Given the description of an element on the screen output the (x, y) to click on. 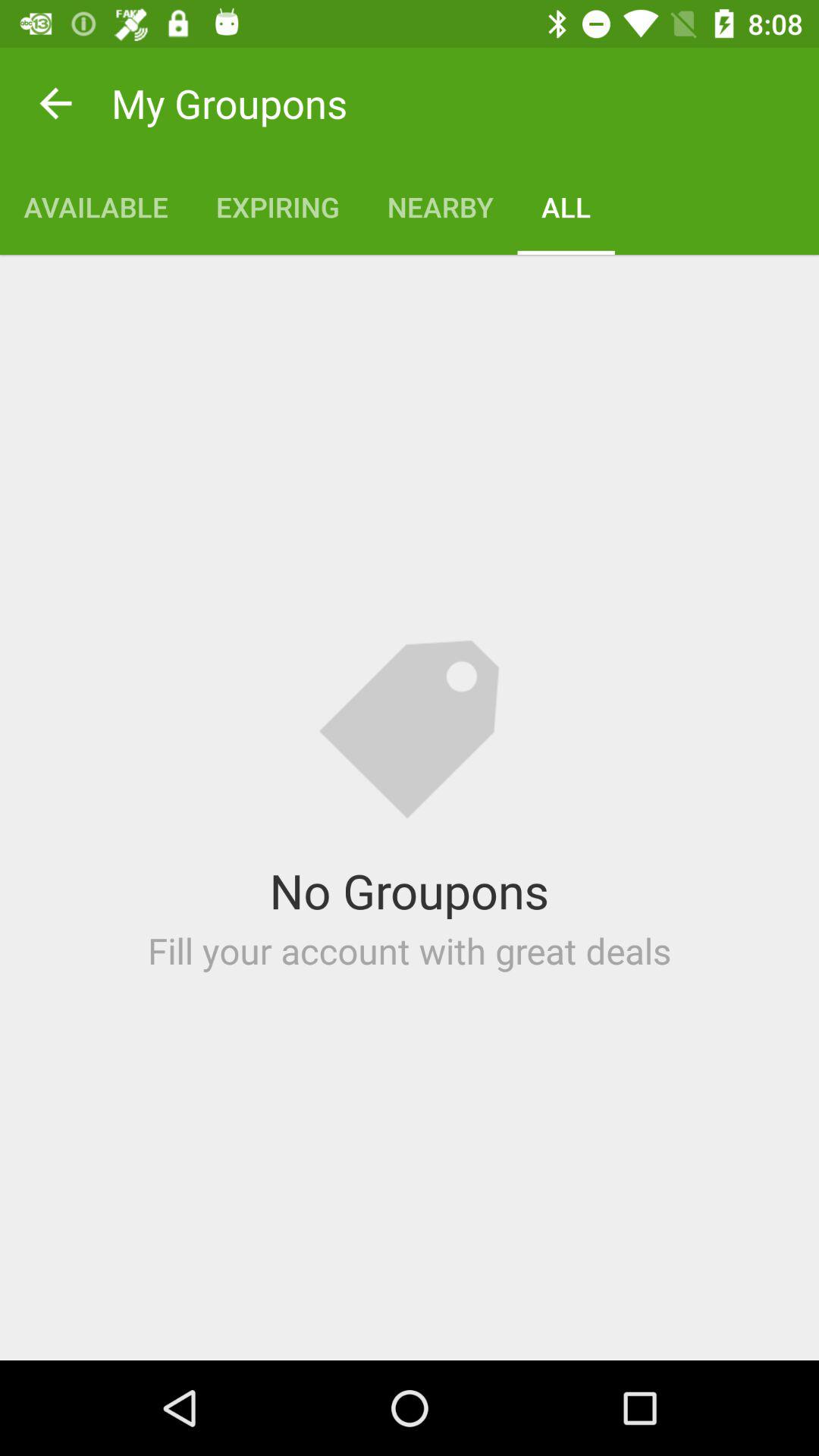
swipe until nearby (440, 206)
